Given the description of an element on the screen output the (x, y) to click on. 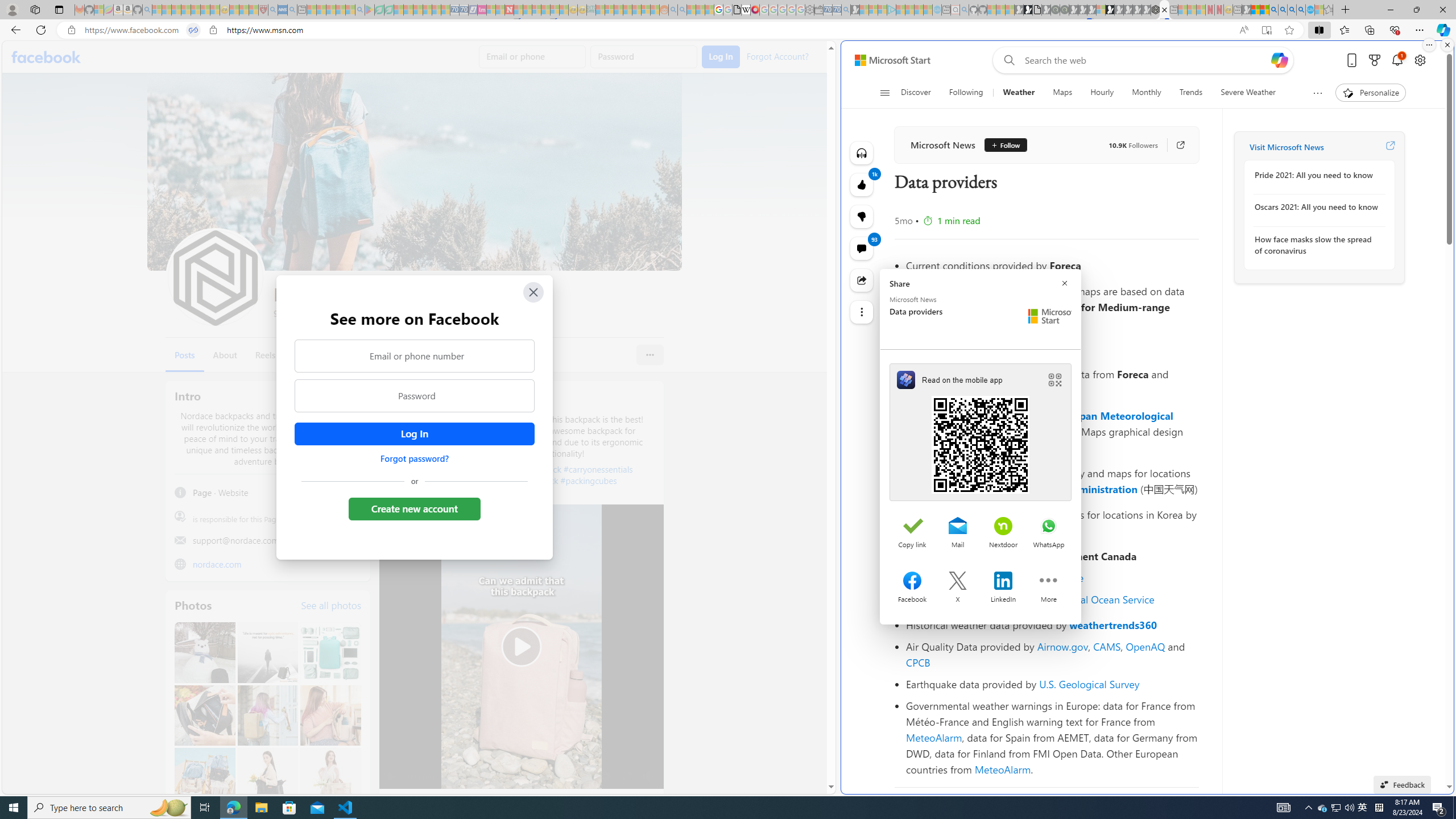
Facebook (46, 56)
Class: button-glyph (884, 92)
14 Common Myths Debunked By Scientific Facts - Sleeping (527, 9)
Cheap Hotels - Save70.com - Sleeping (463, 9)
How face masks slow the spread of coronavirus (1316, 244)
github - Search - Sleeping (964, 9)
Current conditions provided by Foreca (1051, 265)
Wallet - Sleeping (818, 9)
